Given the description of an element on the screen output the (x, y) to click on. 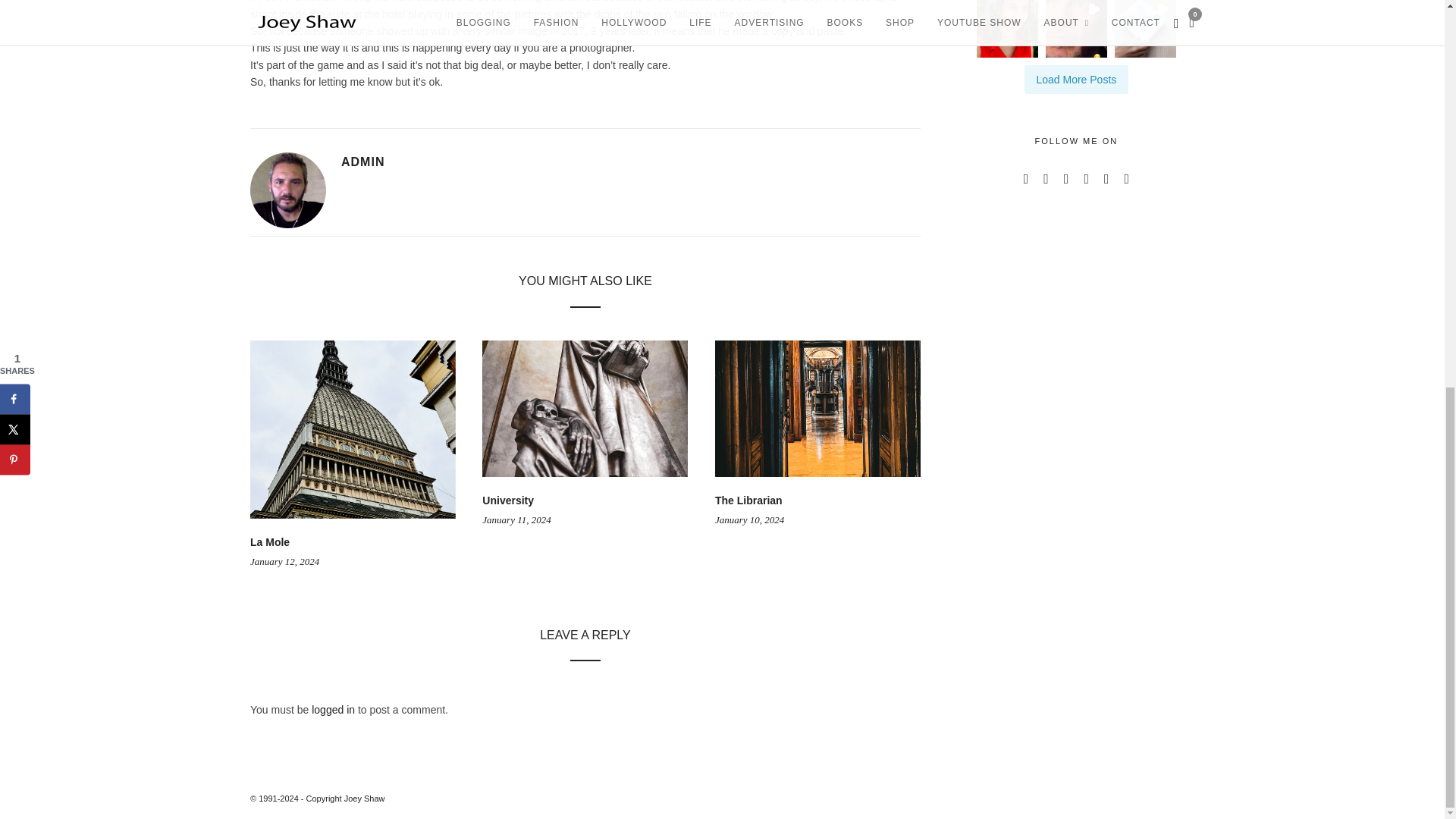
University (507, 500)
La Mole (269, 541)
The Librarian (748, 500)
